Given the description of an element on the screen output the (x, y) to click on. 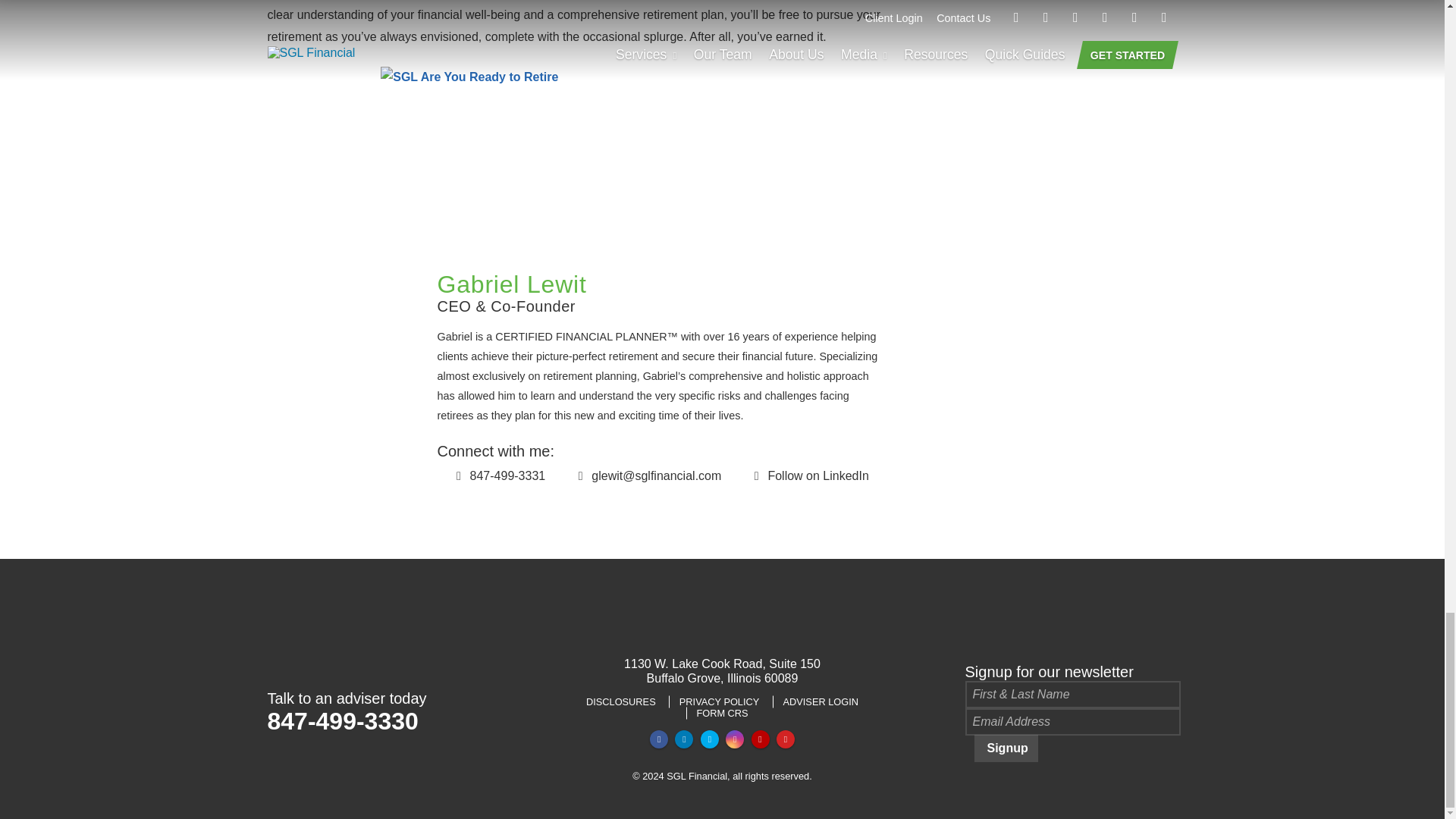
Follow on LinkedIn (807, 475)
847-499-3331 (498, 475)
Signup (1005, 748)
